Given the description of an element on the screen output the (x, y) to click on. 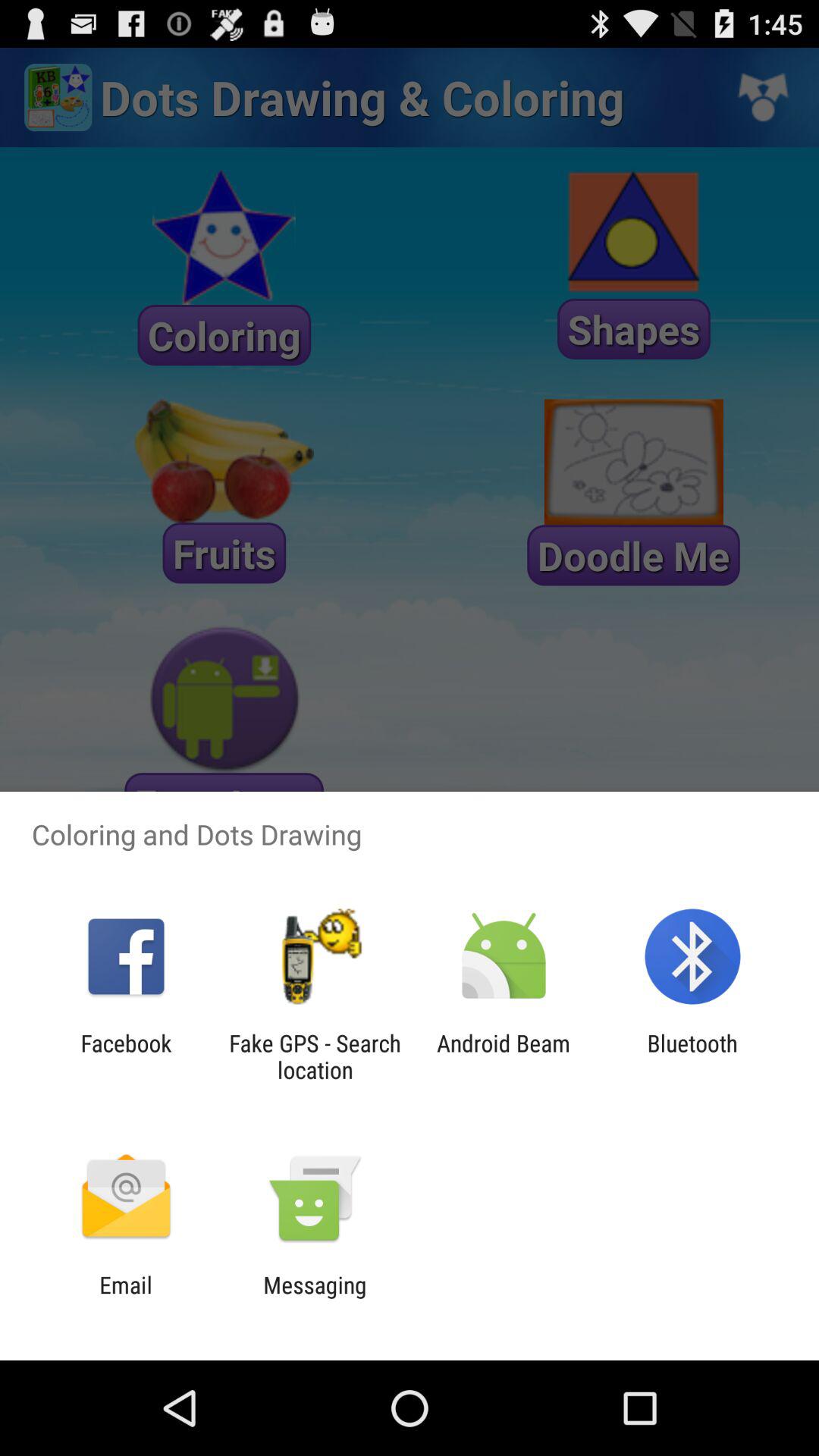
turn on the item next to messaging (125, 1298)
